Given the description of an element on the screen output the (x, y) to click on. 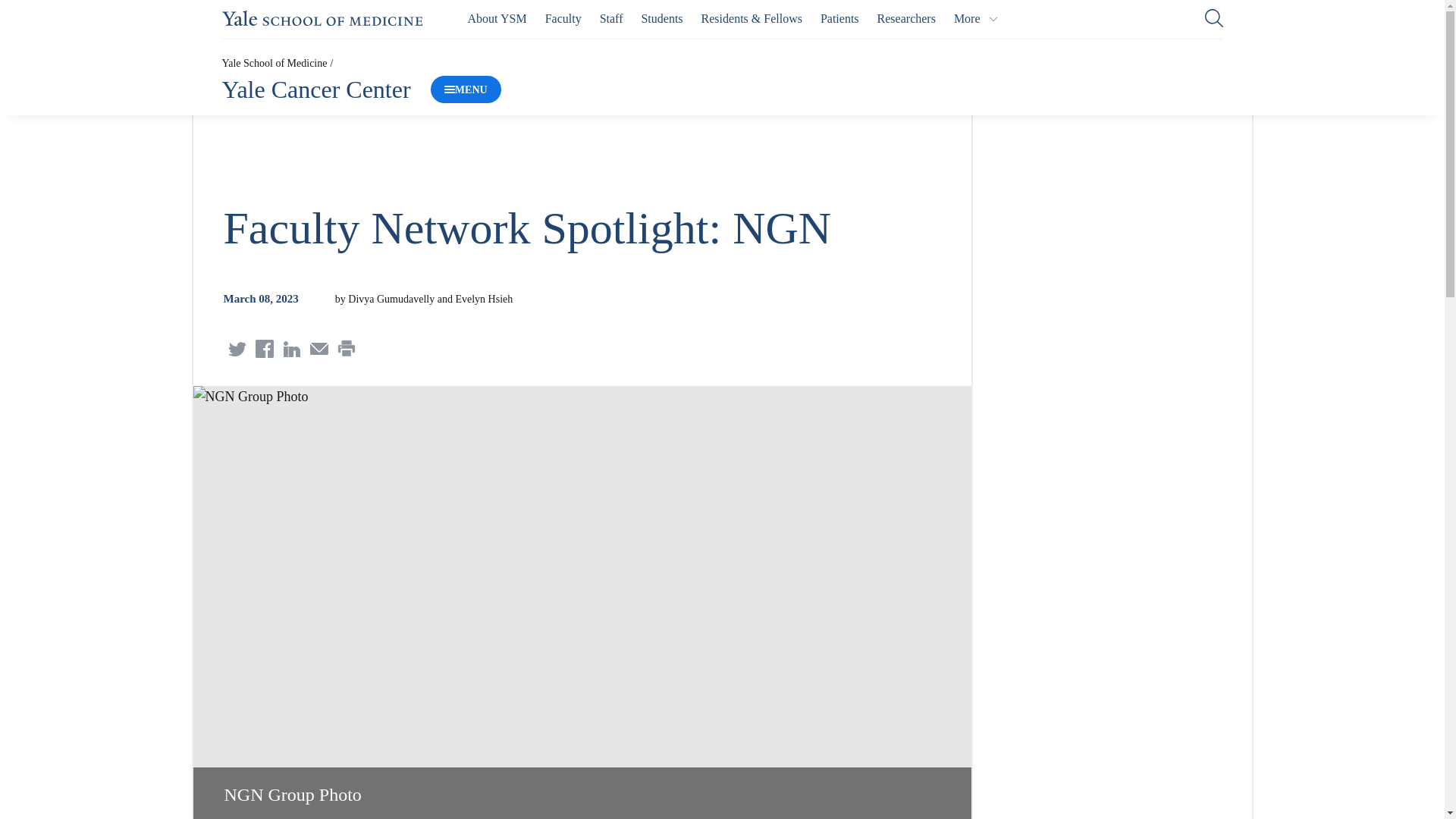
MENU (465, 89)
Students (661, 18)
More (975, 18)
Yale Cancer Center (315, 89)
Yale School of Medicine (321, 17)
Yale School of Medicine (321, 18)
Faculty (562, 18)
Researchers (906, 18)
About YSM (497, 18)
Patients (840, 18)
